Given the description of an element on the screen output the (x, y) to click on. 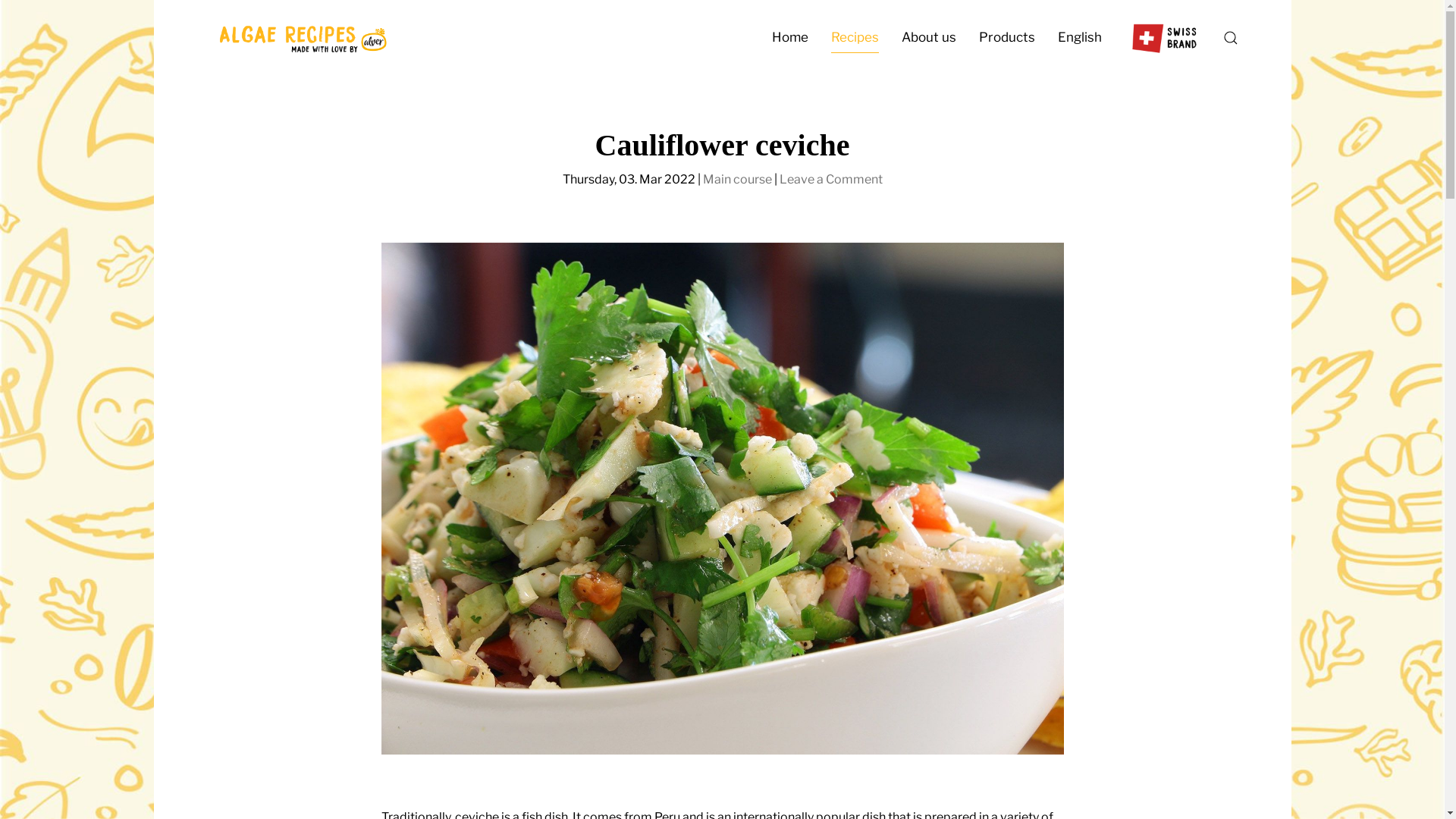
Products Element type: text (1006, 37)
Leave a Comment Element type: text (830, 179)
Main course Element type: text (736, 179)
Recipes Element type: text (854, 37)
Home Element type: text (789, 37)
Algae Recipes | Made with love by Alver World SA Element type: hover (300, 38)
English Element type: text (1079, 37)
About us Element type: text (928, 37)
